Given the description of an element on the screen output the (x, y) to click on. 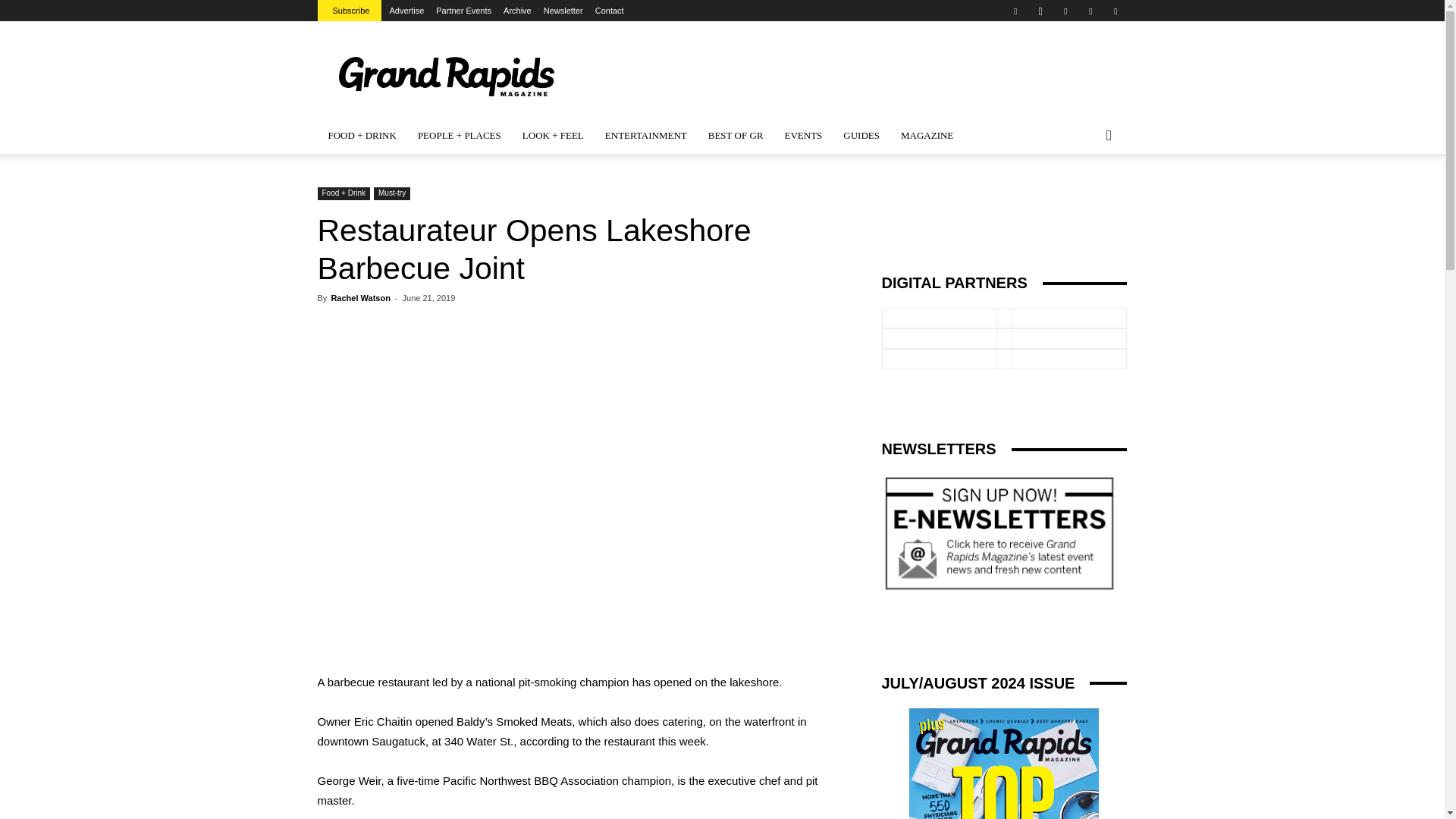
Posts by Rachel Watson (360, 297)
Facebook (1015, 10)
Pinterest (1065, 10)
Instagram (1040, 10)
Youtube (1114, 10)
Twitter (1090, 10)
